Given the description of an element on the screen output the (x, y) to click on. 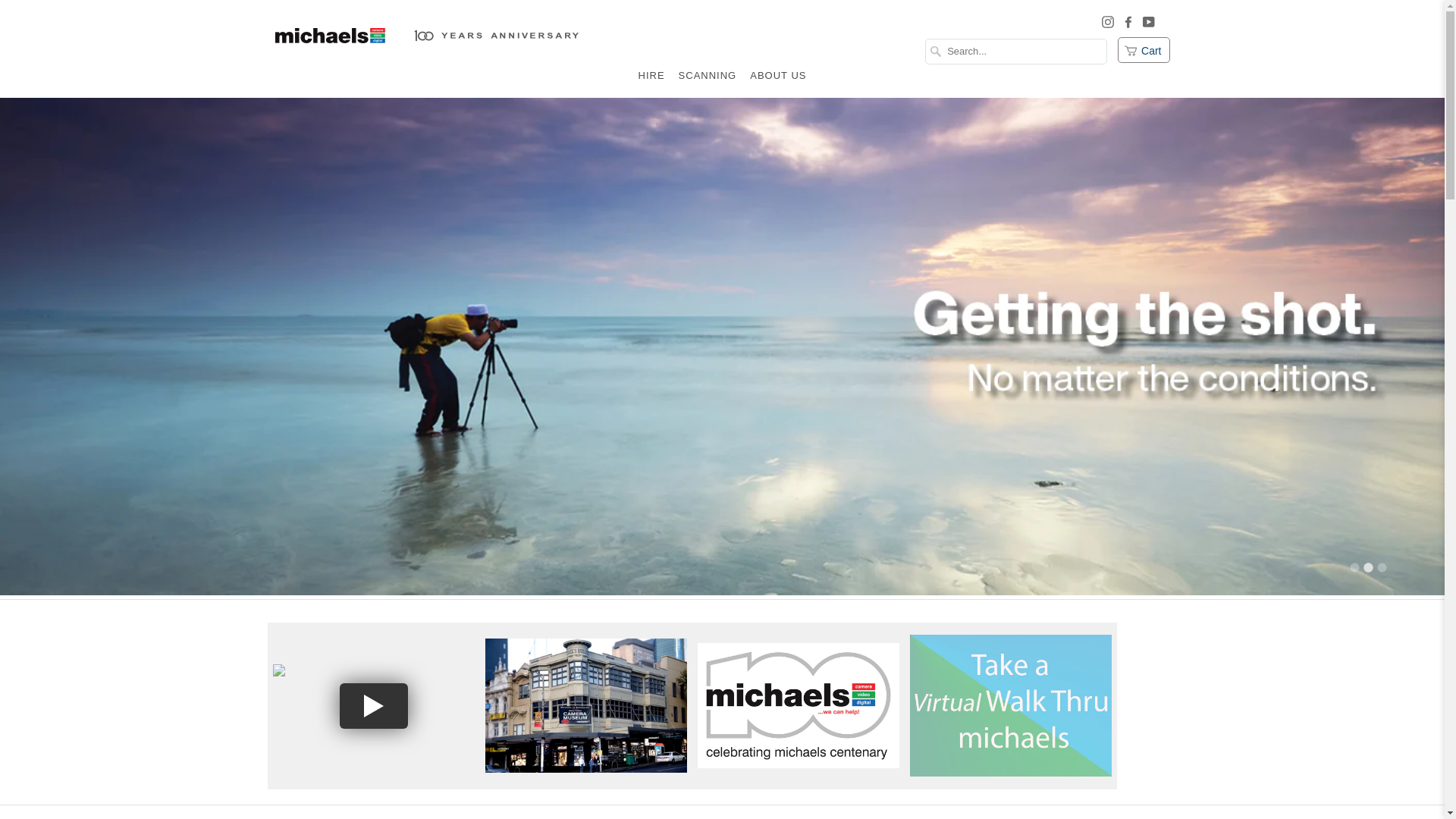
1 Element type: text (1354, 567)
3 Element type: text (1381, 567)
HIRE Element type: text (651, 79)
michaels camera video digital on YouTube Element type: hover (1148, 19)
Cart Element type: text (1143, 49)
michaels camera video digital on Facebook Element type: hover (1128, 19)
2 Element type: text (1368, 567)
michaels camera video digital Element type: hover (425, 50)
ABOUT US Element type: text (777, 79)
michaels camera video digital on Instagram Element type: hover (1107, 19)
SCANNING Element type: text (707, 79)
